Given the description of an element on the screen output the (x, y) to click on. 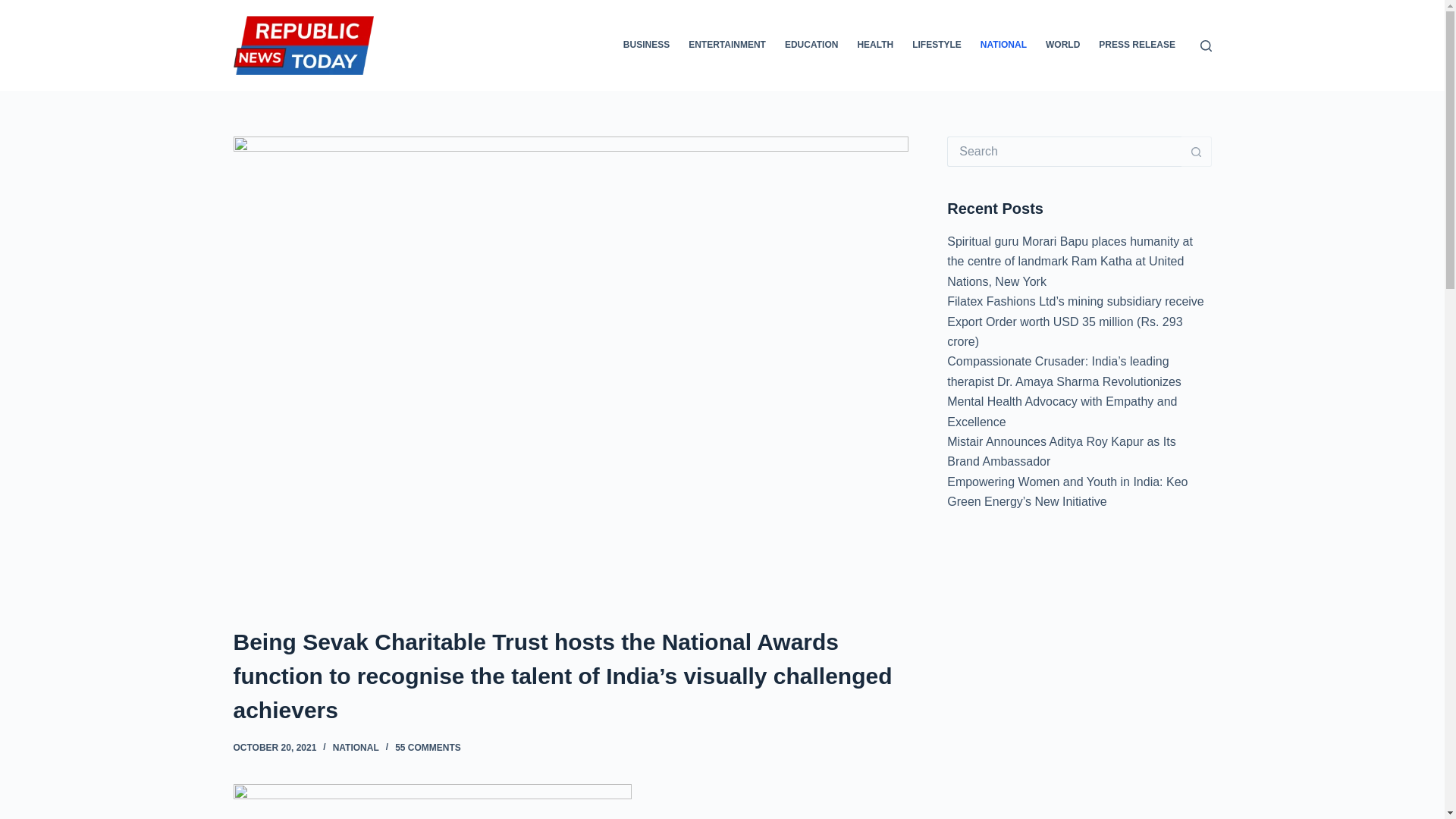
Mistair Announces Aditya Roy Kapur as Its Brand Ambassador (1060, 450)
55 COMMENTS (427, 747)
PRESS RELEASE (1137, 45)
NATIONAL (355, 747)
Search for... (1063, 151)
Skip to content (15, 7)
ENTERTAINMENT (727, 45)
